Given the description of an element on the screen output the (x, y) to click on. 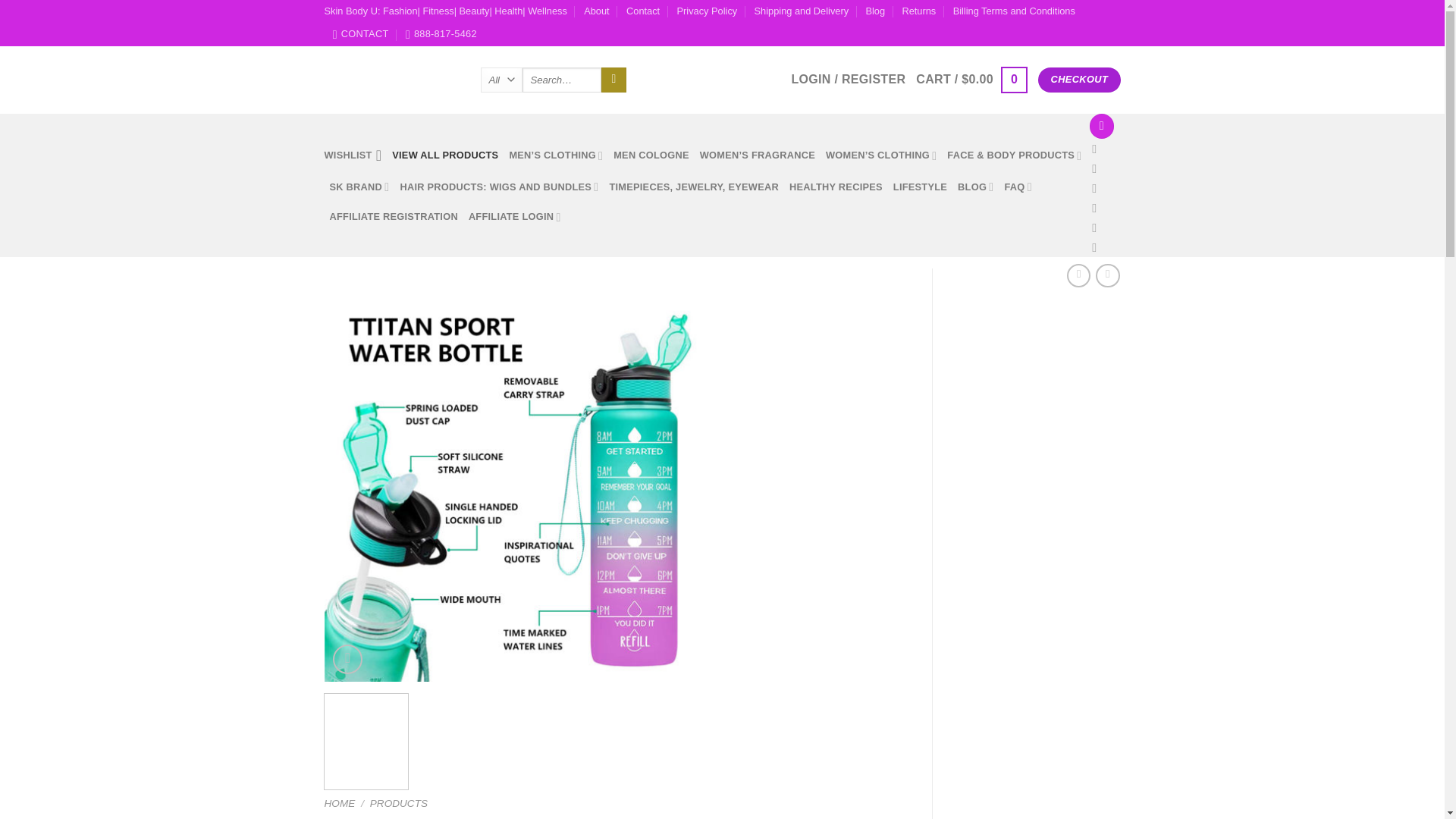
Wishlist (352, 154)
CONTACT (360, 33)
Login (847, 79)
Billing Terms and Conditions (1014, 11)
About (595, 11)
Contact (642, 11)
Shipping and Delivery (801, 11)
Returns (918, 11)
Skin Body U - Be The Best You (391, 79)
Cart (971, 79)
Privacy Policy (707, 11)
888-817-5462 (441, 33)
888-817-5462 (441, 33)
